Given the description of an element on the screen output the (x, y) to click on. 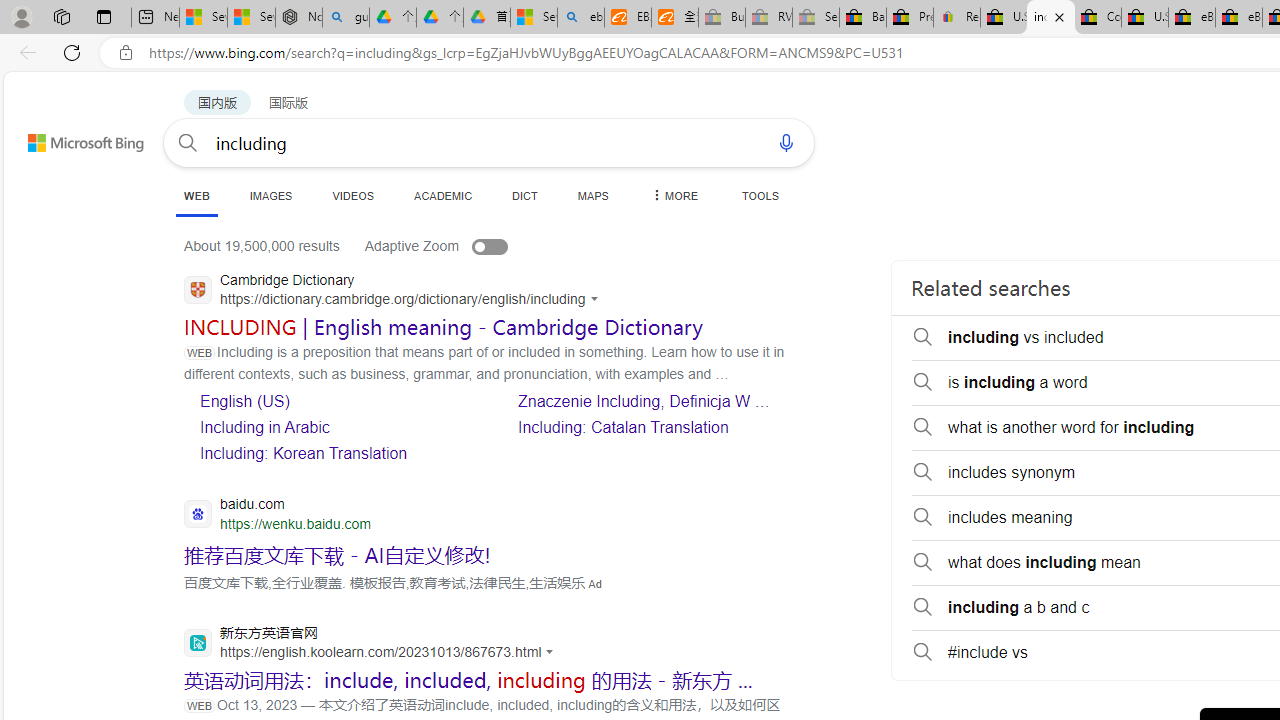
English (US) (244, 401)
IMAGES (270, 195)
Baby Keepsakes & Announcements for sale | eBay (862, 17)
ACADEMIC (443, 195)
Search button (187, 142)
INCLUDING | English meaning - Cambridge Dictionary (443, 326)
SERP,5486 (337, 555)
VIDEOS (352, 195)
VIDEOS (352, 195)
Skip to content (63, 133)
